Given the description of an element on the screen output the (x, y) to click on. 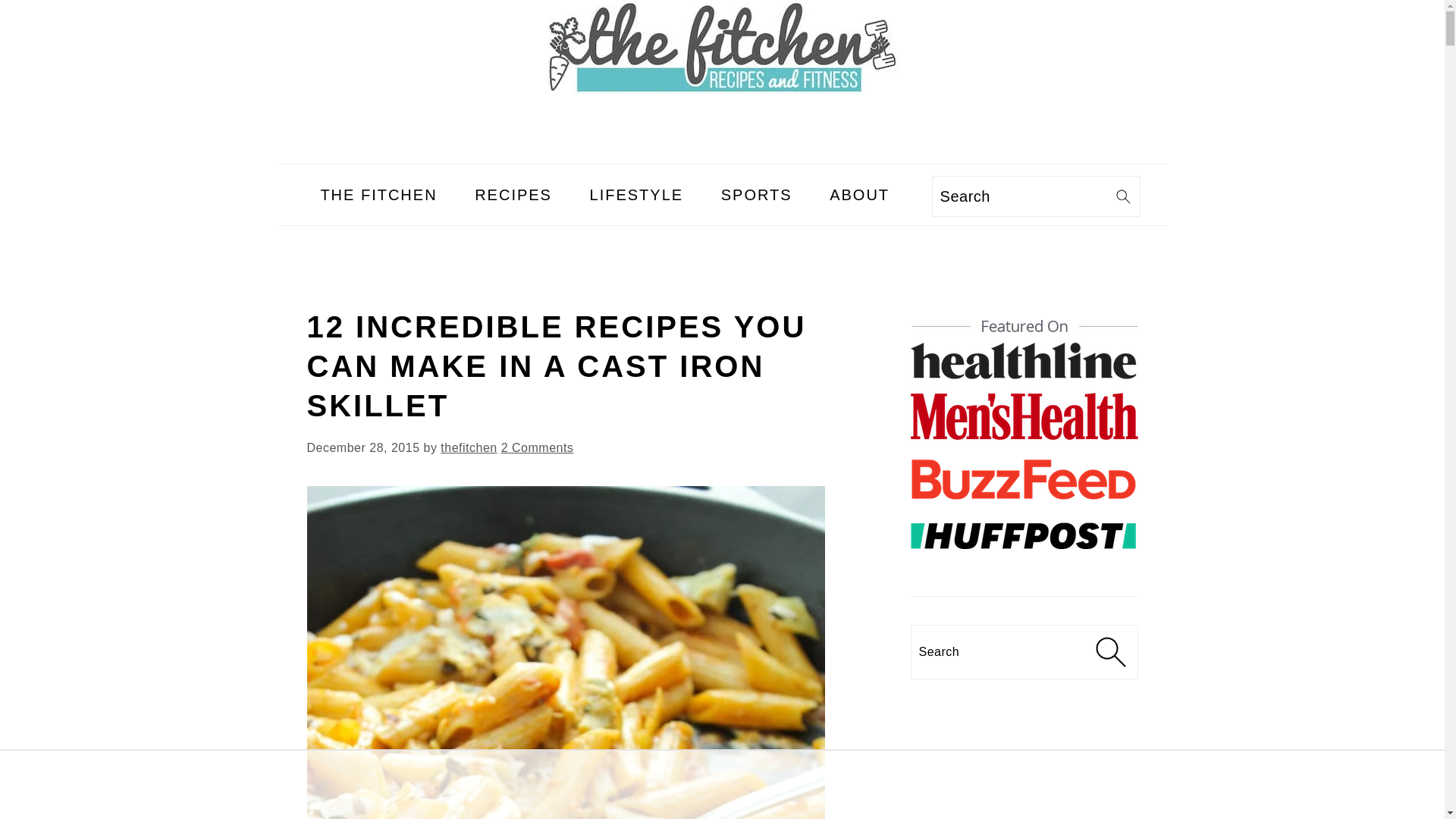
The Fitchen (721, 89)
The Fitchen (721, 47)
RECIPES (512, 194)
LIFESTYLE (636, 194)
SPORTS (756, 194)
THE FITCHEN (378, 194)
ABOUT (859, 194)
